Given the description of an element on the screen output the (x, y) to click on. 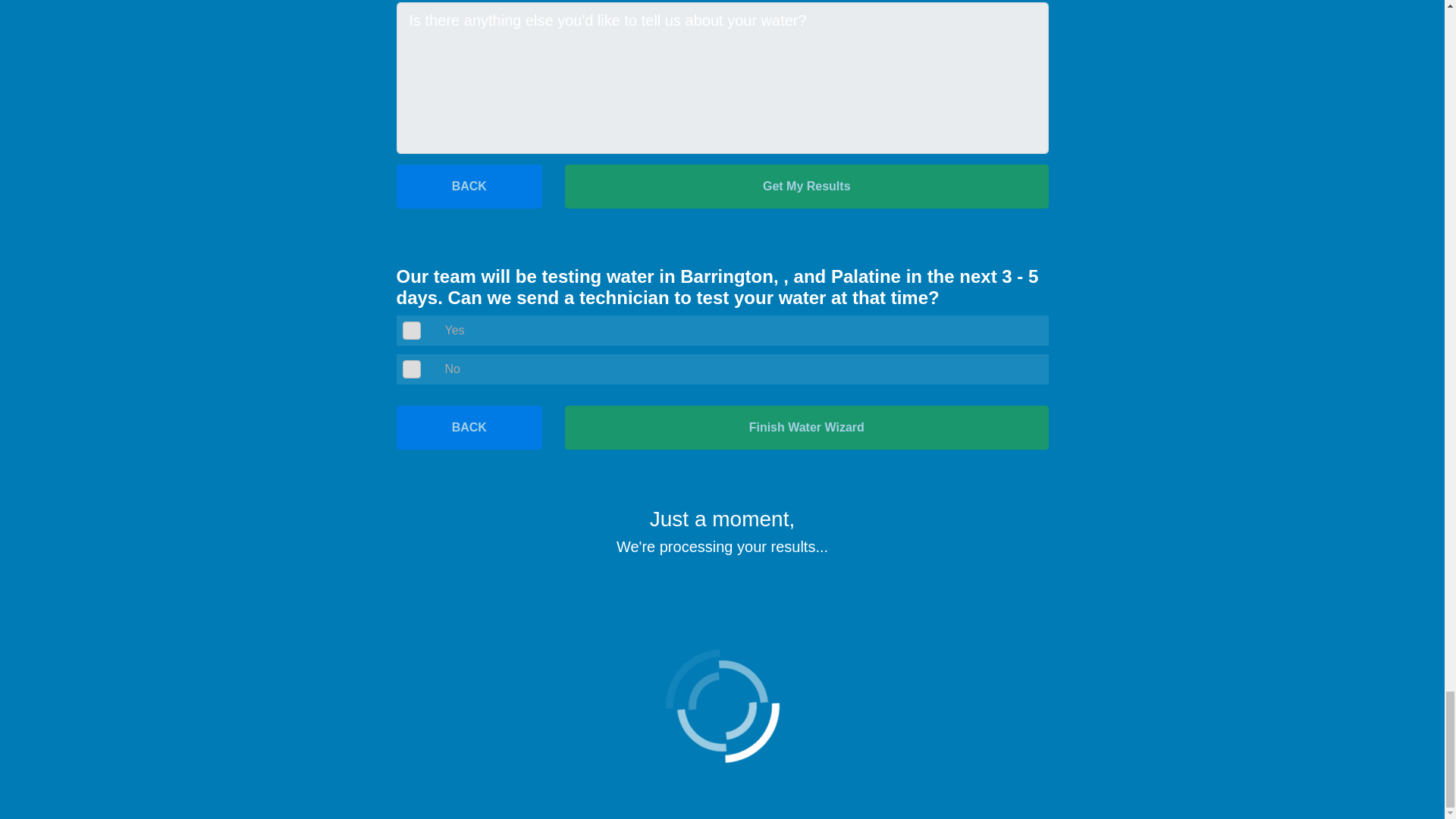
BACK (468, 427)
Finish Water Wizard (806, 427)
Get My Results (806, 186)
BACK (468, 186)
